Given the description of an element on the screen output the (x, y) to click on. 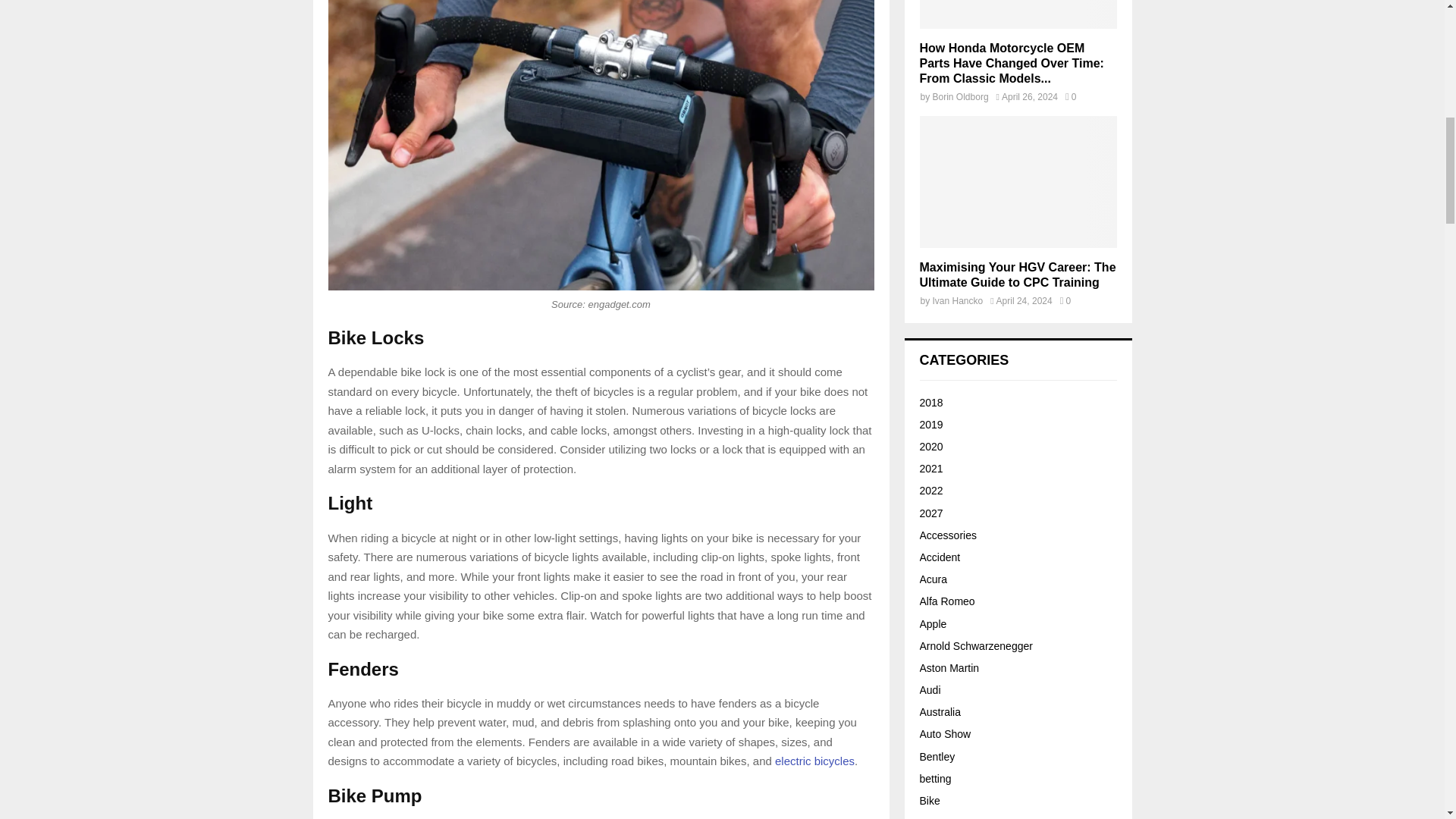
electric bicycles (814, 760)
